Given the description of an element on the screen output the (x, y) to click on. 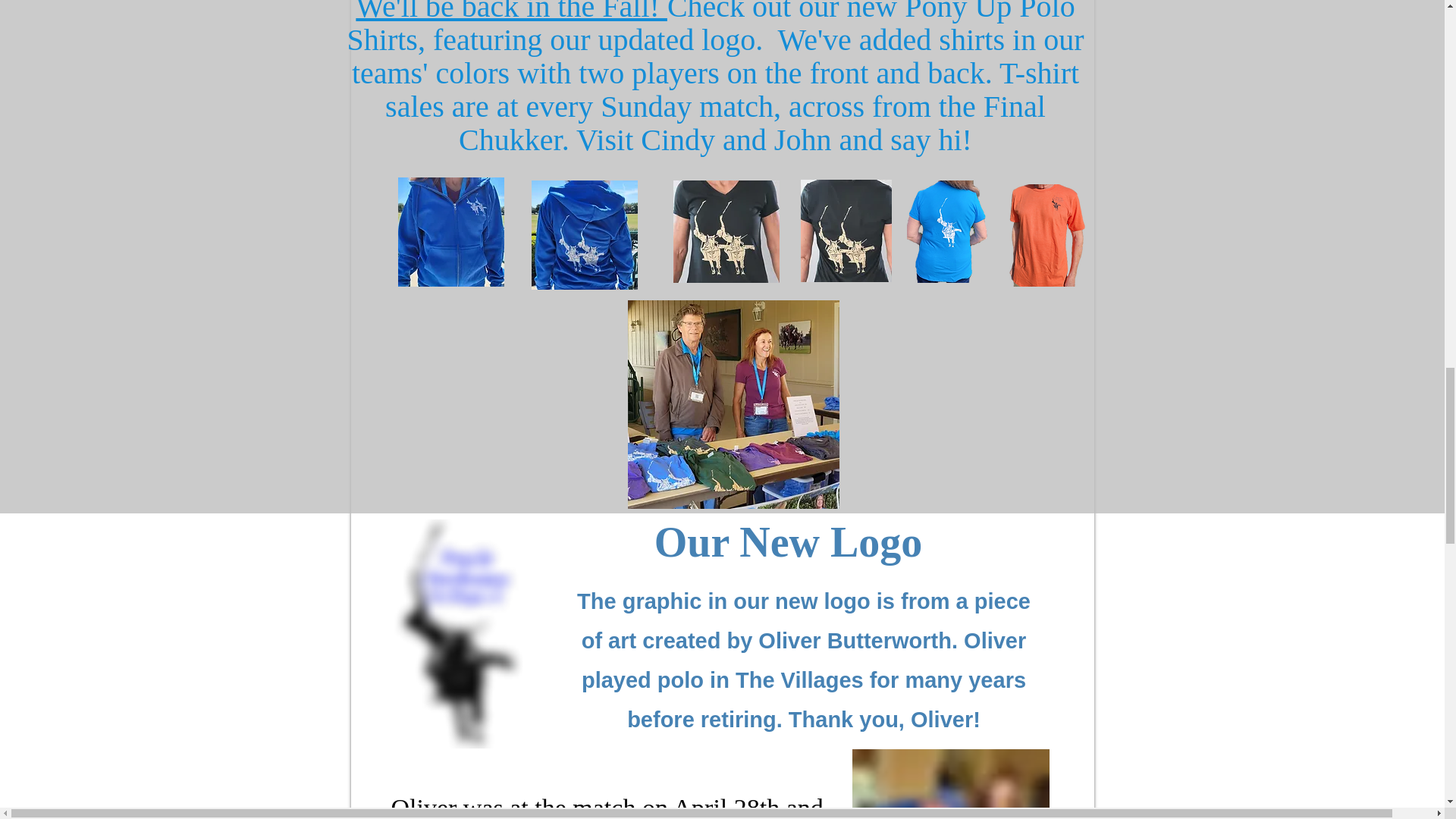
bluesweatfront.jpg (450, 231)
bluesweatback.jpg (584, 234)
lord lyall copy 2.png (460, 633)
